Given the description of an element on the screen output the (x, y) to click on. 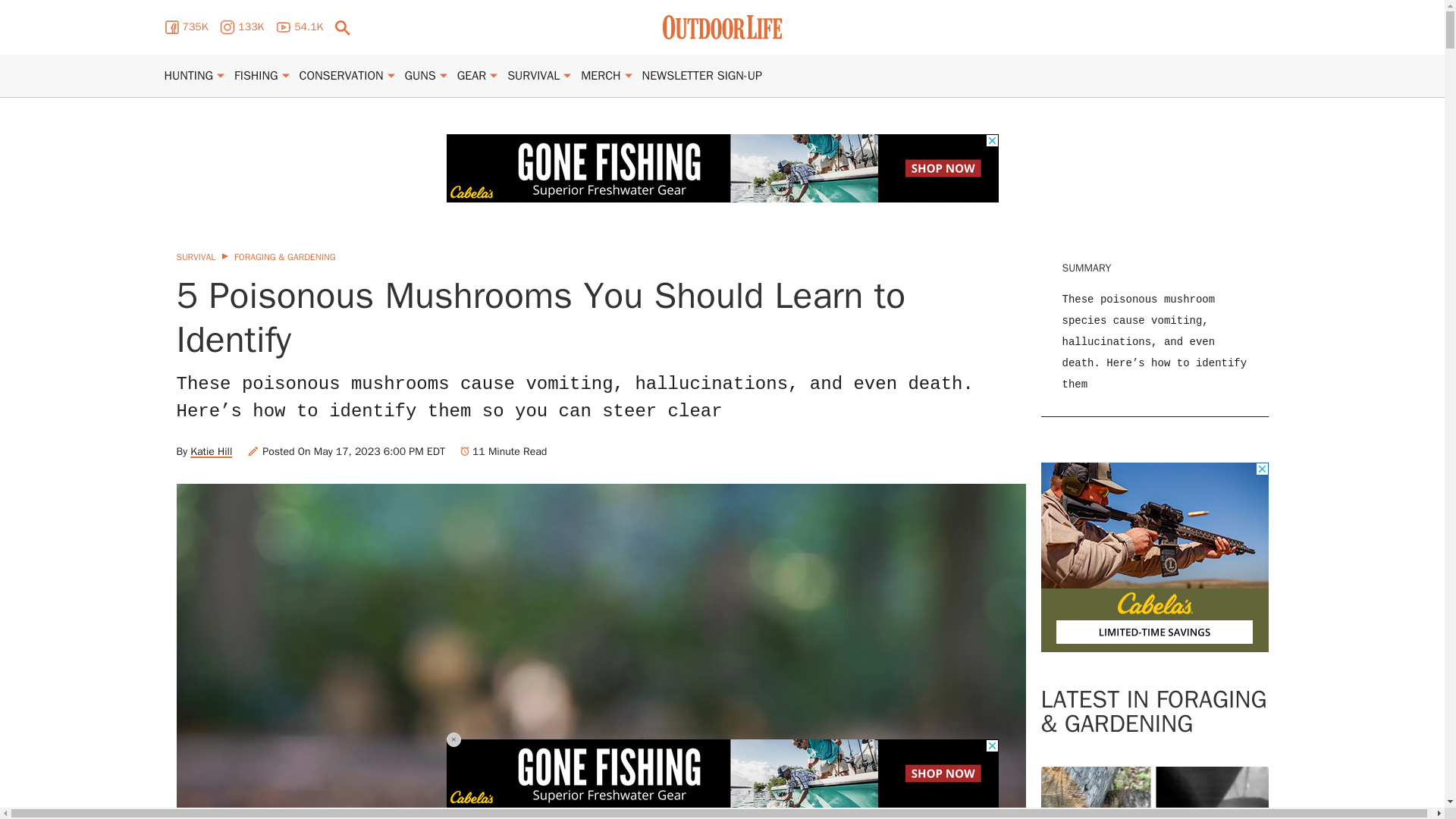
Newsletter Sign-up (701, 75)
Gear (471, 75)
Guns (419, 75)
Merch (600, 75)
3rd party ad content (721, 168)
Fishing (256, 75)
Conservation (341, 75)
Hunting (187, 75)
3rd party ad content (1154, 556)
Survival (532, 75)
